Given the description of an element on the screen output the (x, y) to click on. 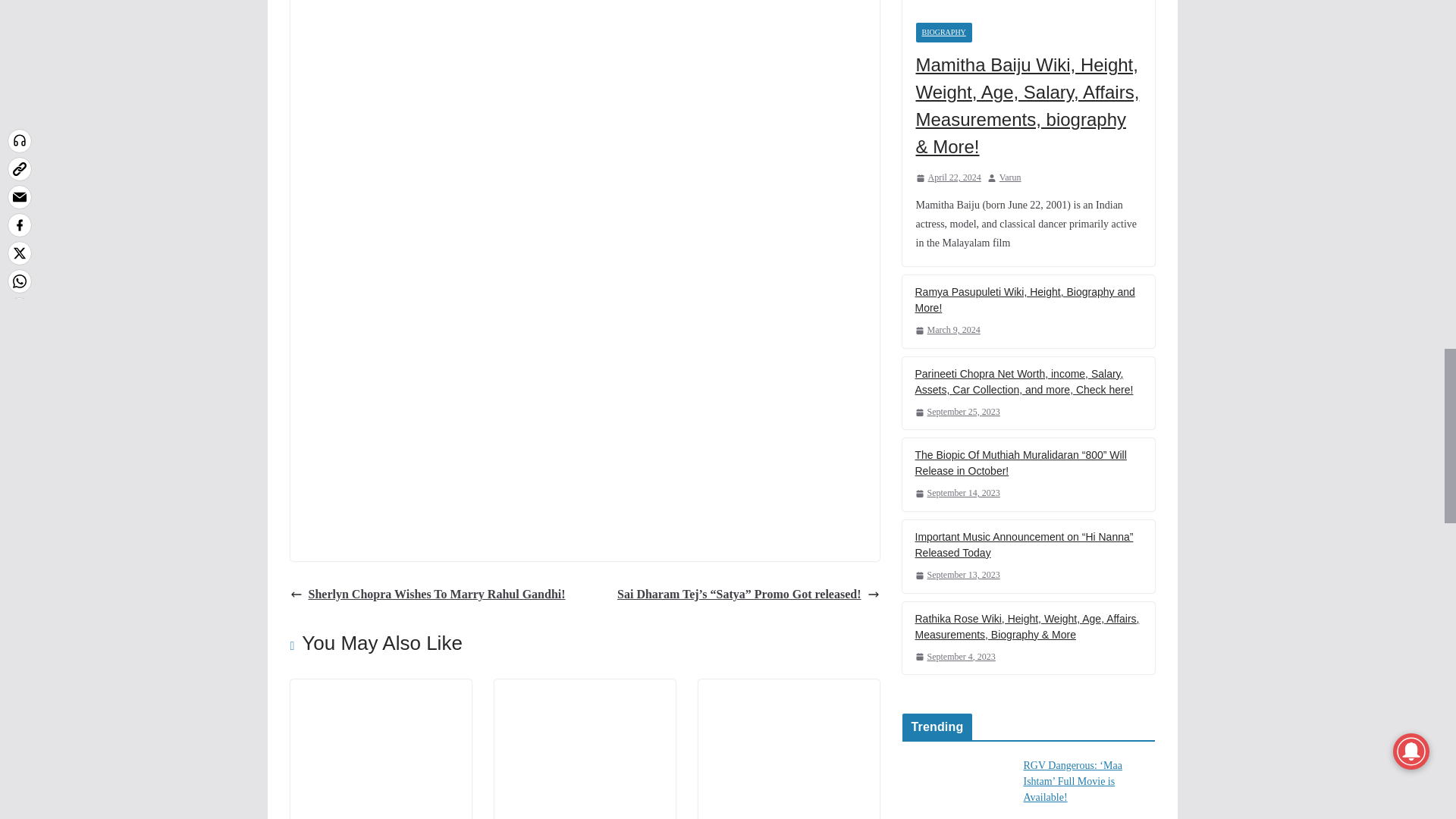
Sherlyn Chopra Wishes To Marry Rahul Gandhi! (426, 594)
Vuukle Emotes Widget (532, 15)
Google News (584, 404)
